Given the description of an element on the screen output the (x, y) to click on. 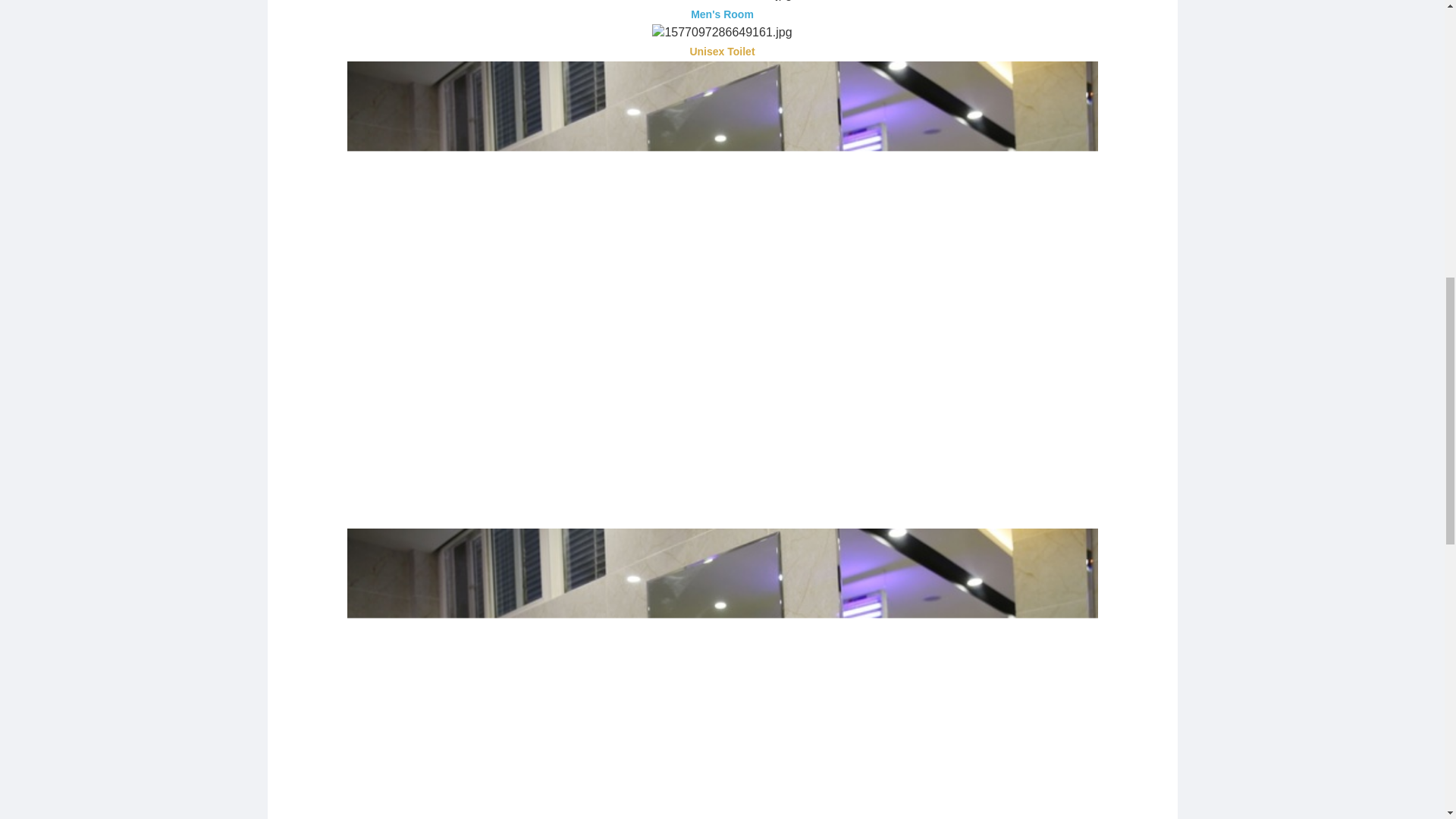
1577097286649161.jpg (722, 32)
1577097156570743.jpg (722, 2)
